Given the description of an element on the screen output the (x, y) to click on. 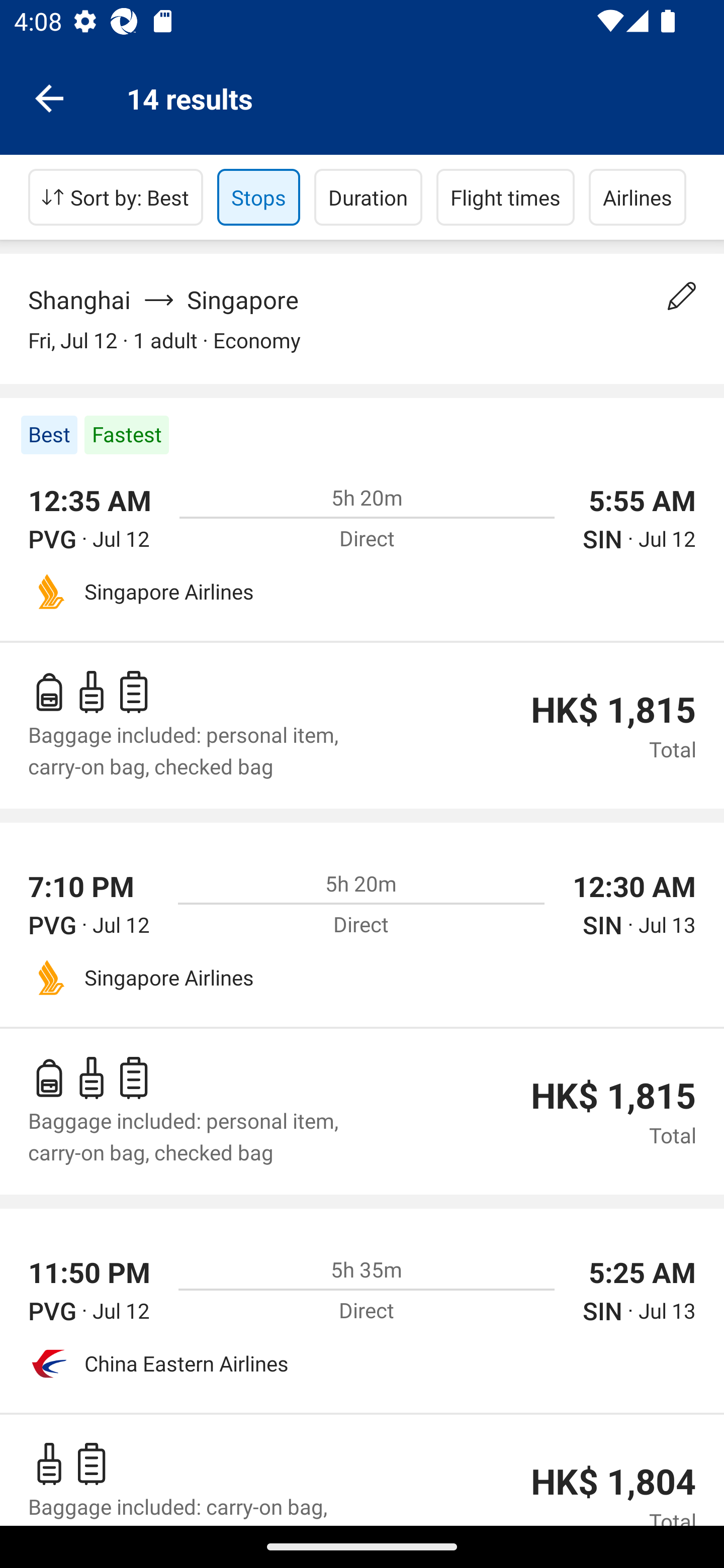
Navigate up (49, 97)
Sort by: Best (115, 197)
Stops (258, 197)
Duration (368, 197)
Flight times (505, 197)
Airlines (637, 197)
Change your search details (681, 296)
HK$ 1,815 (612, 710)
HK$ 1,815 (612, 1095)
HK$ 1,804 (612, 1481)
